Given the description of an element on the screen output the (x, y) to click on. 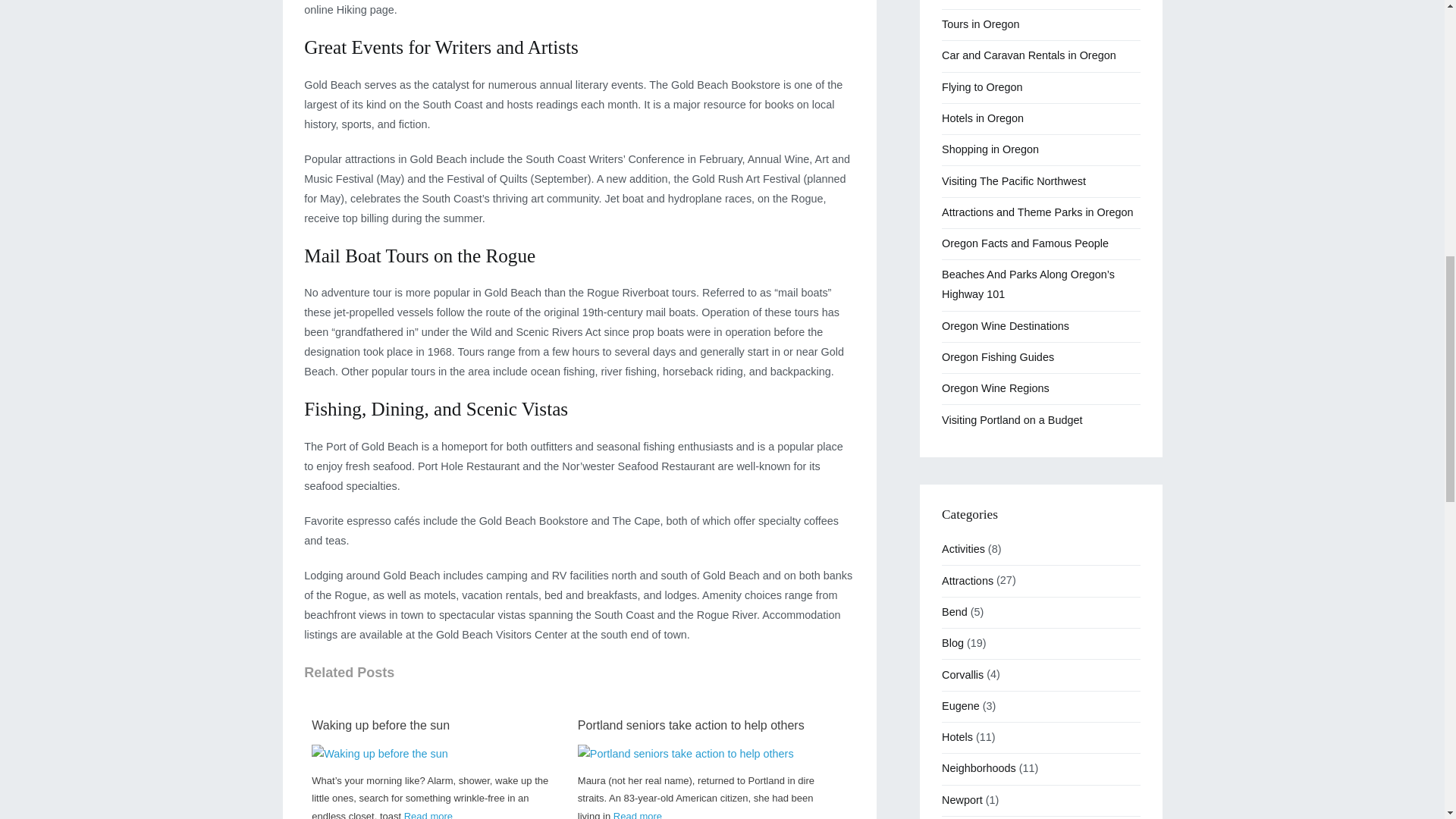
Waking up before the sun (378, 753)
Portland seniors take action to help others (701, 725)
Portland seniors take action to help others (685, 753)
Waking up before the sun (378, 754)
Read more (428, 814)
Waking up before the sun (435, 725)
Portland seniors take action to help others (685, 754)
Waking up before the sun (435, 725)
